Given the description of an element on the screen output the (x, y) to click on. 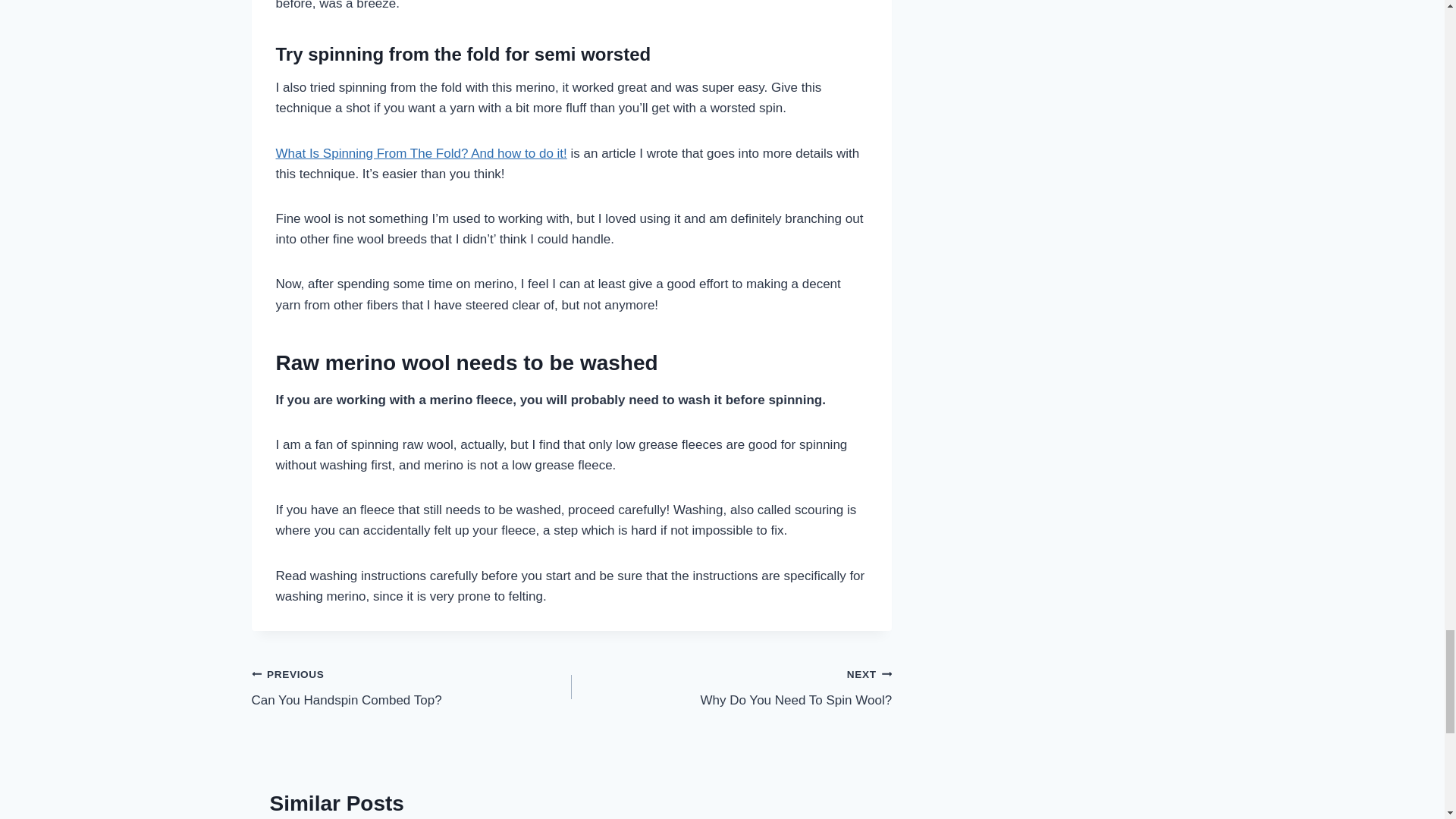
What Is Spinning From The Fold? And how to do it! (411, 687)
